Given the description of an element on the screen output the (x, y) to click on. 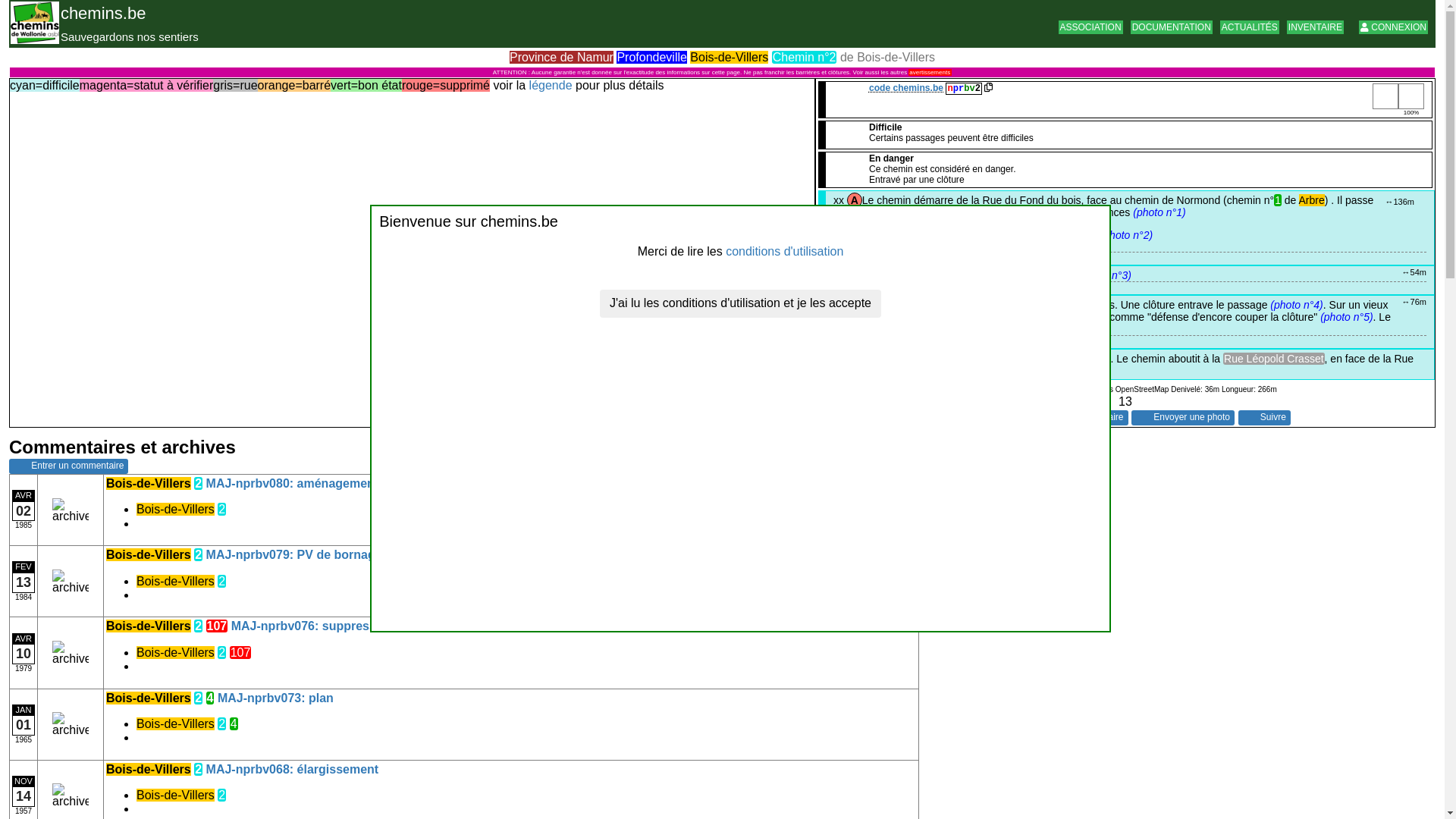
Envoyer une photo Element type: text (1182, 417)
4 Element type: text (210, 697)
Bois-de-Villers Element type: text (175, 723)
Bois-de-Villers Element type: text (148, 768)
Bois-de-Villers Element type: text (175, 652)
1 Element type: text (1277, 200)
avertissements Element type: text (929, 72)
DOCUMENTATION Element type: text (1171, 27)
2 Element type: text (198, 482)
Bois-de-Villers Element type: text (175, 580)
2 Element type: text (221, 723)
Province de Namur Element type: text (561, 56)
2 Element type: text (221, 580)
MAJ-nprbv079: PV de bornage Element type: text (294, 554)
4 Element type: text (233, 723)
Bois-de-Villers Element type: text (175, 508)
conditions d'utilisation Element type: text (784, 250)
nprbv2 Element type: text (968, 87)
107 Element type: text (217, 625)
2 Element type: text (221, 652)
chemins.be Element type: text (103, 12)
Commentaire Element type: text (1086, 417)
2 Element type: text (198, 768)
Suivre Element type: text (1263, 417)
Profondeville Element type: text (651, 56)
Bois-de-Villers Element type: text (148, 697)
Bois-de-Villers Element type: text (175, 794)
Bois-de-Villers Element type: text (148, 554)
ASSOCIATION Element type: text (1090, 27)
MAJ-nprbv073: plan Element type: text (275, 697)
Arbre Element type: text (1311, 200)
2 Element type: text (221, 508)
code chemins.be Element type: text (906, 87)
2 Element type: text (198, 625)
INVENTAIRE Element type: text (1314, 27)
Bois-de-Villers Element type: text (148, 625)
J'ai lu les conditions d'utilisation et je les accepte Element type: text (740, 303)
2 Element type: text (198, 697)
Entrer un commentaire Element type: text (68, 465)
CONNEXION Element type: text (1392, 27)
Bois-de-Villers Element type: text (729, 56)
107 Element type: text (240, 652)
2 Element type: text (198, 554)
2 Element type: text (221, 794)
Bois-de-Villers Element type: text (148, 482)
